Given the description of an element on the screen output the (x, y) to click on. 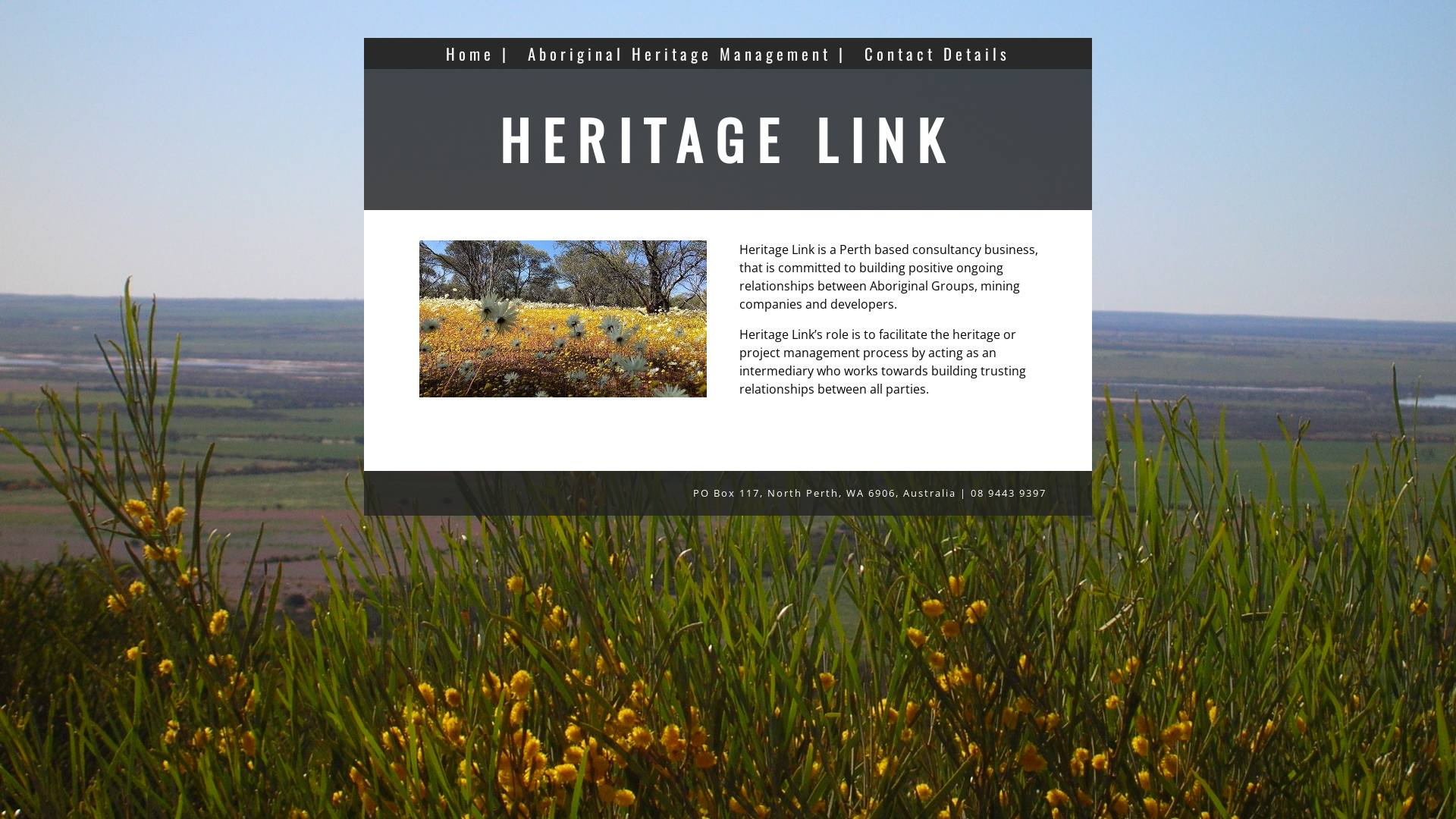
Contact Details Element type: text (937, 53)
HERITAGE LINK Element type: text (727, 138)
Home | Element type: text (477, 53)
Aboriginal Heritage Management | Element type: text (686, 53)
